Given the description of an element on the screen output the (x, y) to click on. 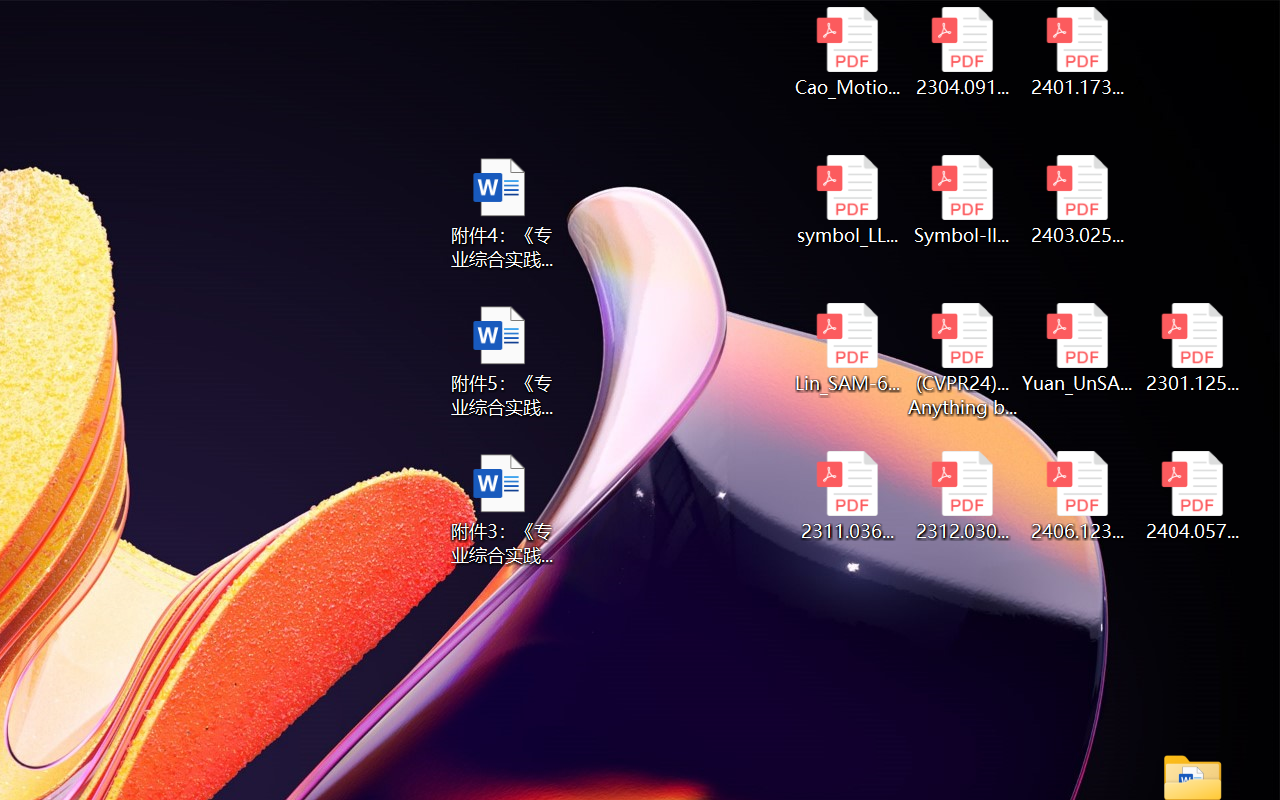
2401.17399v1.pdf (1077, 52)
Symbol-llm-v2.pdf (962, 200)
2304.09121v3.pdf (962, 52)
2403.02502v1.pdf (1077, 200)
(CVPR24)Matching Anything by Segmenting Anything.pdf (962, 360)
2406.12373v2.pdf (1077, 496)
2312.03032v2.pdf (962, 496)
2311.03658v2.pdf (846, 496)
2301.12597v3.pdf (1192, 348)
